Given the description of an element on the screen output the (x, y) to click on. 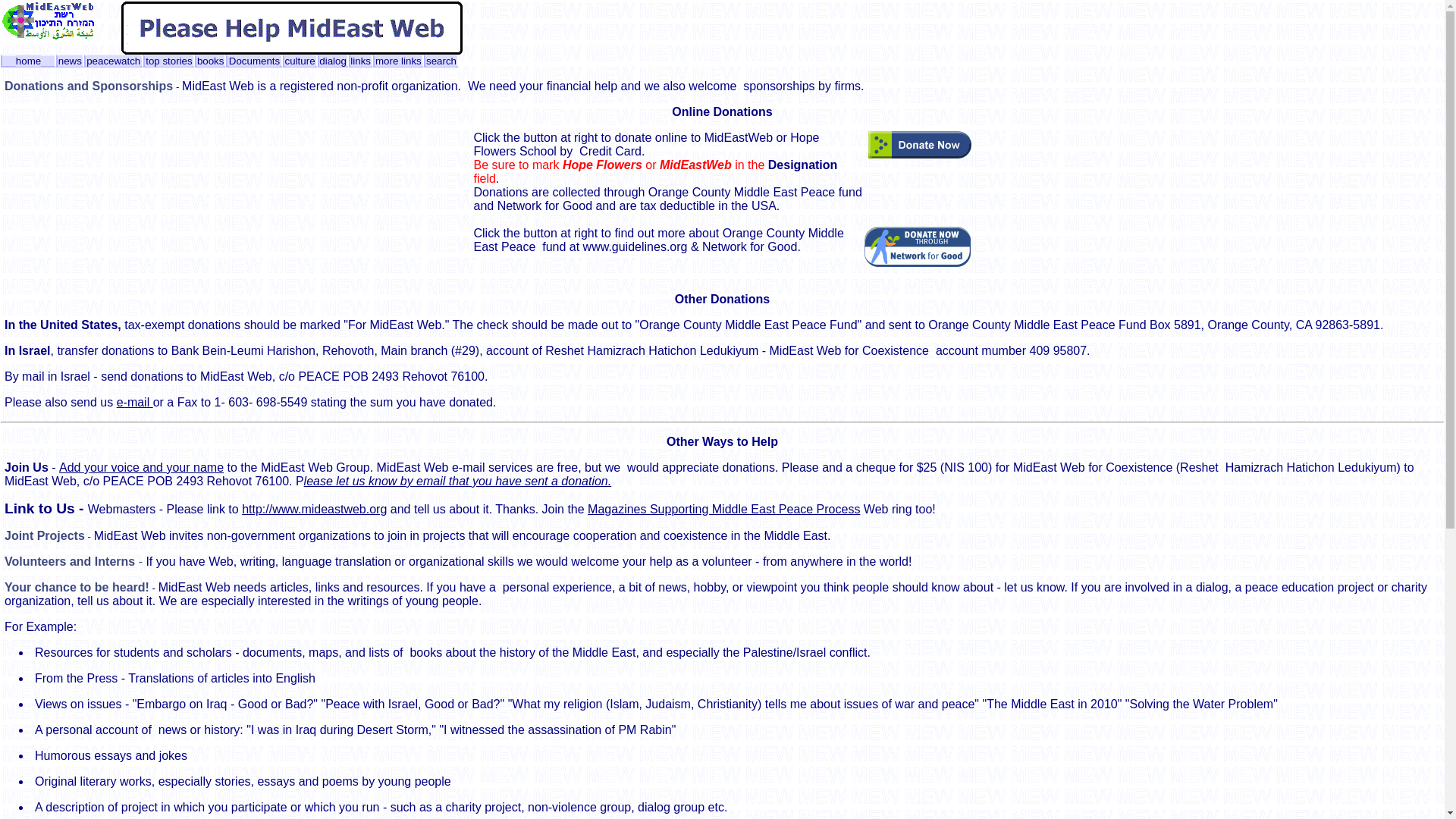
news (69, 60)
Documents (253, 60)
lease let us know by email that you have sent a donation. (457, 481)
Middle East Historical Documents (253, 60)
Magazines Supporting Middle East Peace Process (724, 508)
e-mail (134, 401)
Add your voice and your name (141, 467)
culture (300, 60)
Mideastweb: Middle East (47, 34)
links (360, 60)
